Given the description of an element on the screen output the (x, y) to click on. 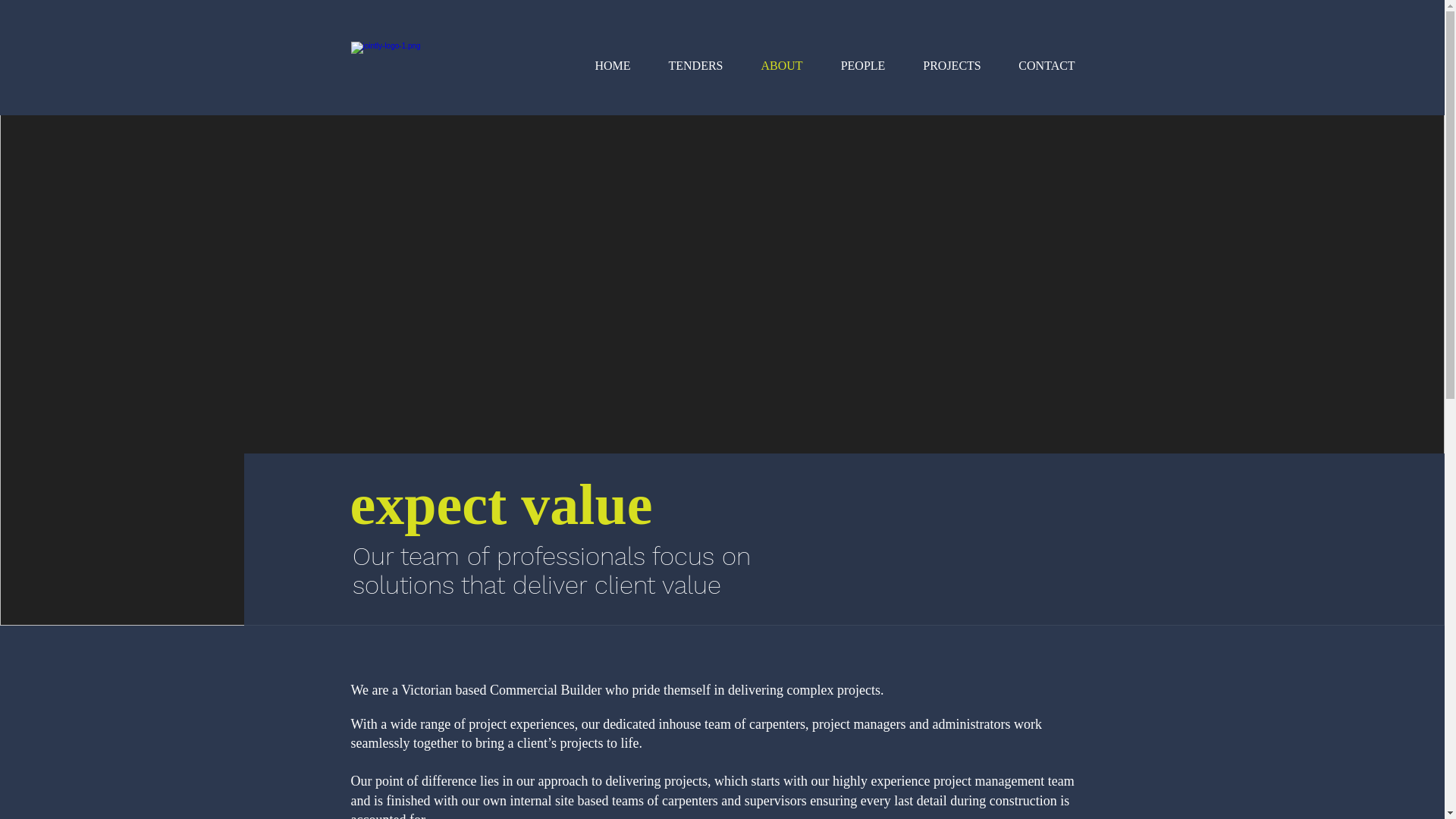
PEOPLE Element type: text (863, 65)
CONTACT Element type: text (1046, 65)
PROJECTS Element type: text (951, 65)
HOME Element type: text (612, 65)
TENDERS Element type: text (695, 65)
ABOUT Element type: text (781, 65)
